Given the description of an element on the screen output the (x, y) to click on. 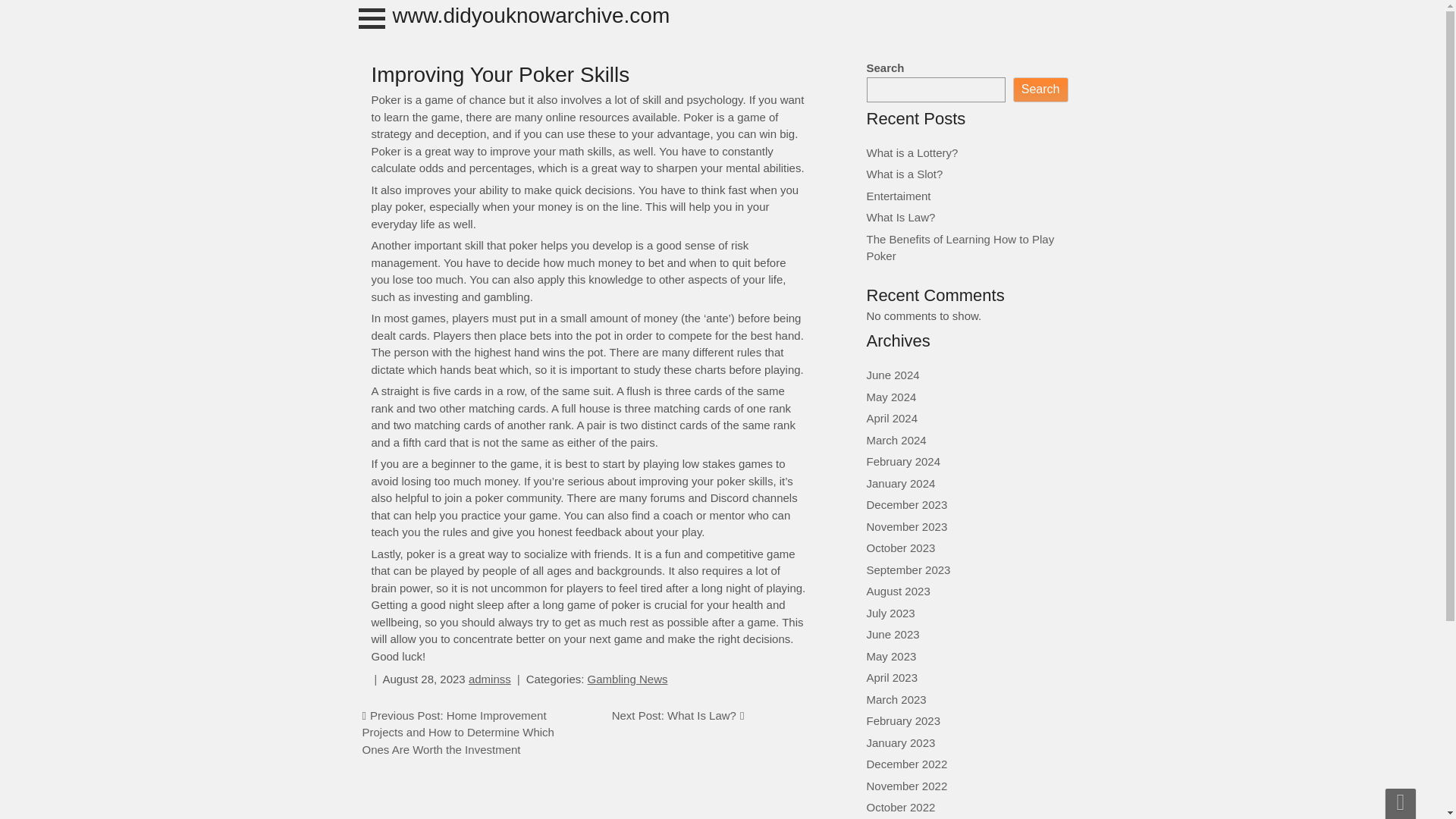
November 2023 (906, 526)
September 2023 (908, 568)
February 2023 (903, 720)
January 2023 (900, 741)
August 2023 (898, 590)
November 2022 (906, 785)
Search (1040, 89)
The Benefits of Learning How to Play Poker (960, 246)
October 2022 (900, 807)
May 2023 (890, 655)
